Given the description of an element on the screen output the (x, y) to click on. 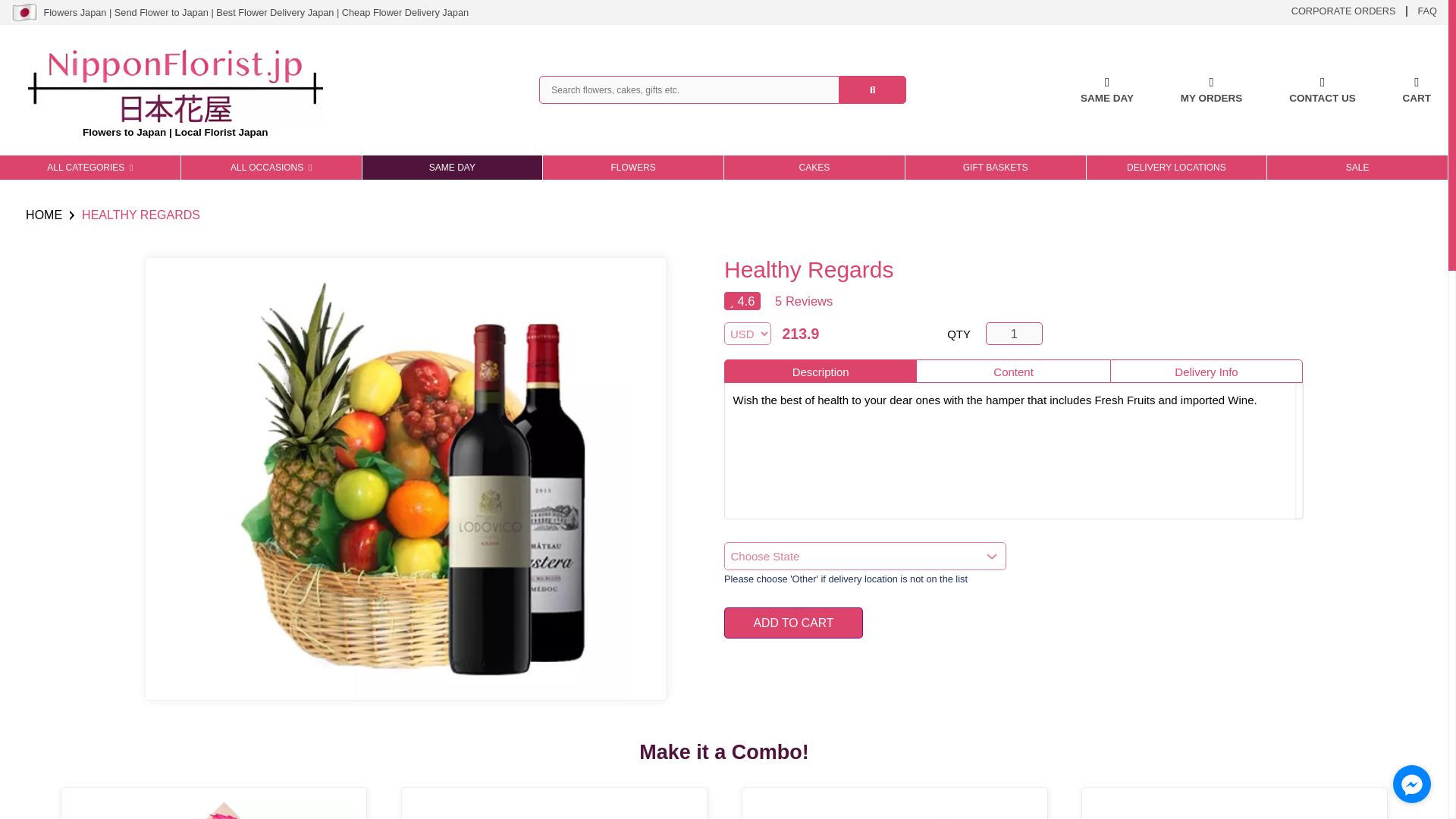
CORPORATE ORDERS (1343, 9)
CART (1416, 90)
SAME DAY (1107, 90)
ALL OCCASIONS   (270, 167)
ALL CATEGORIES   (90, 167)
FAQ (1426, 9)
3 characters minimum (689, 90)
1 (1014, 333)
CONTACT US (1321, 90)
